Given the description of an element on the screen output the (x, y) to click on. 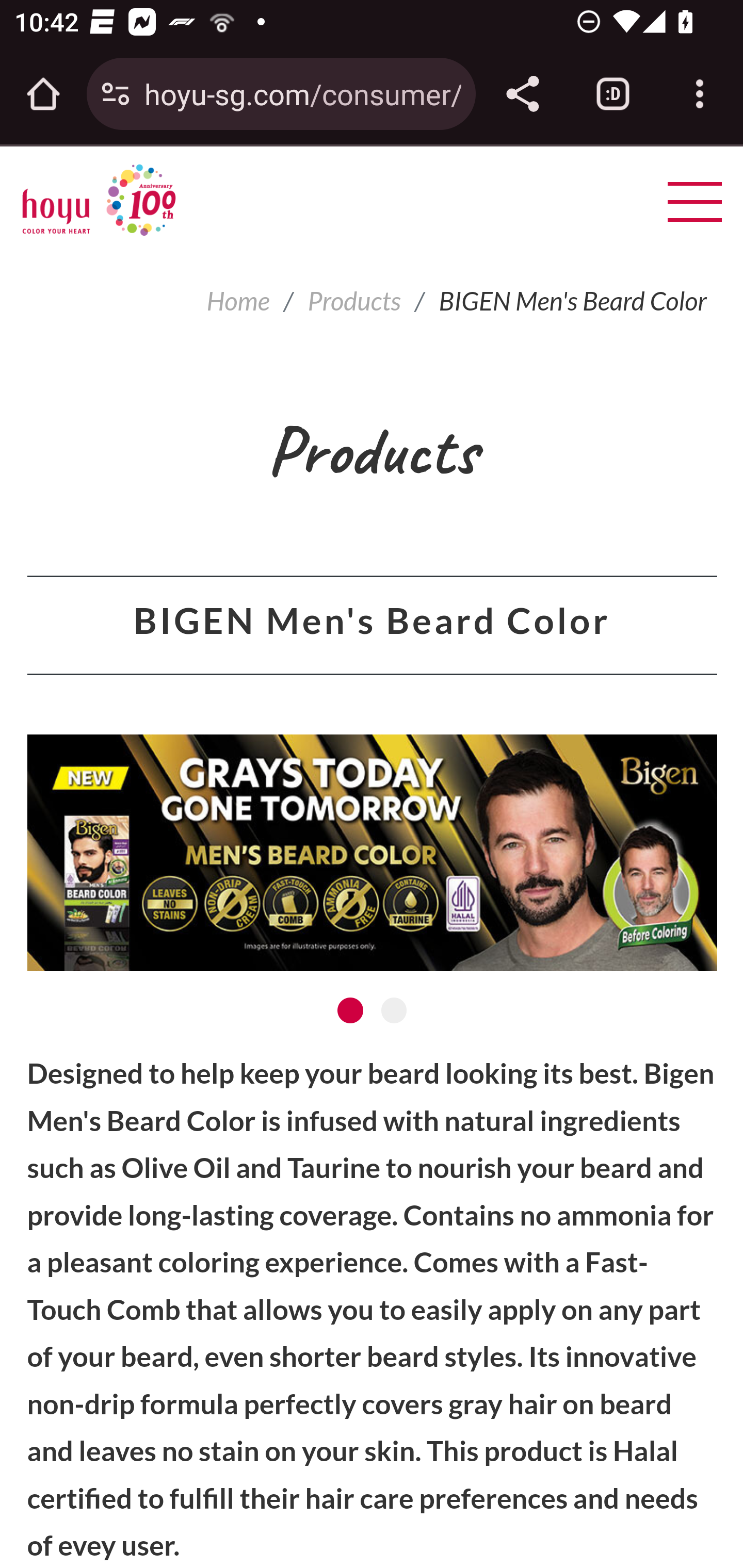
Open the home page (43, 93)
Connection is secure (115, 93)
Share (522, 93)
Switch or close tabs (612, 93)
Customize and control Google Chrome (699, 93)
hoyu Singapore (98, 199)
Home (238, 300)
Products (354, 300)
